Given the description of an element on the screen output the (x, y) to click on. 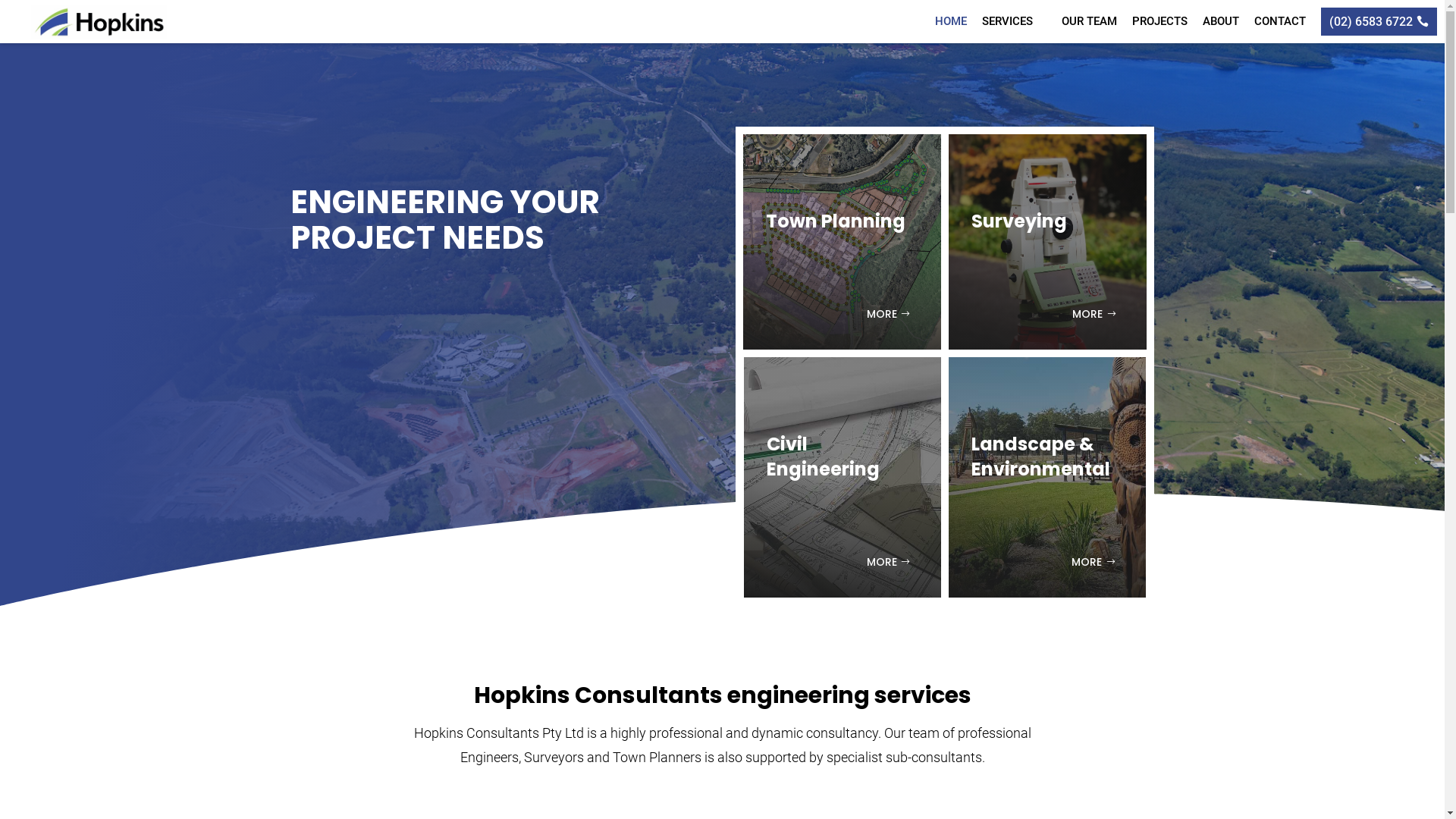
OUR TEAM Element type: text (1089, 20)
MORE Element type: text (888, 313)
ABOUT Element type: text (1220, 20)
MORE Element type: text (888, 562)
MORE Element type: text (1093, 562)
CONTACT Element type: text (1279, 20)
(02) 6583 6722 Element type: text (1379, 21)
MORE Element type: text (1094, 313)
HOME Element type: text (950, 20)
SERVICES Element type: text (1014, 20)
PROJECTS Element type: text (1159, 20)
